Given the description of an element on the screen output the (x, y) to click on. 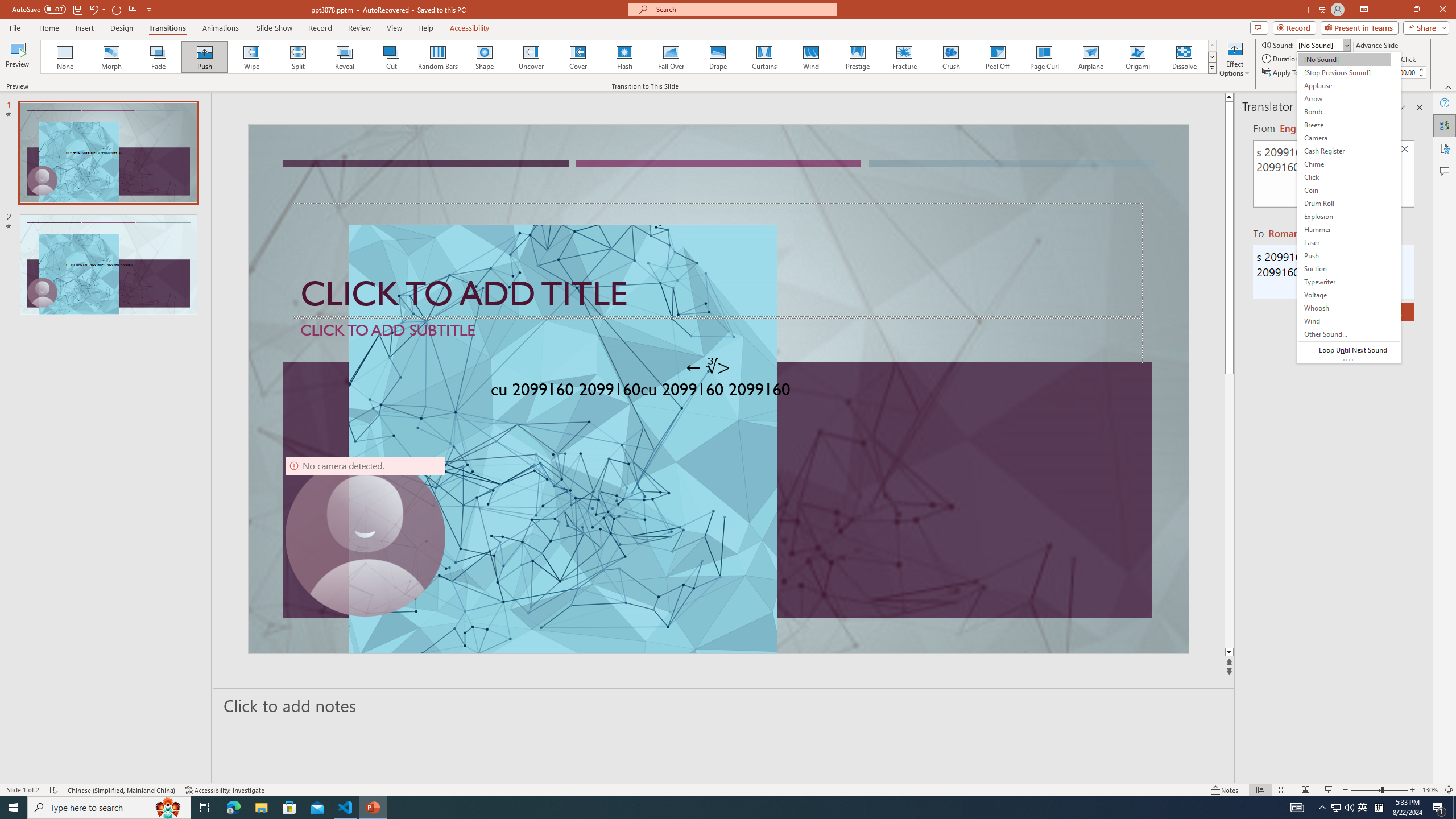
Curtains (764, 56)
Sound: (1348, 207)
Flash (624, 56)
Zoom 130% (1430, 790)
Fall Over (670, 56)
More (1420, 69)
AutomationID: AnimationTransitionGallery (628, 56)
